Given the description of an element on the screen output the (x, y) to click on. 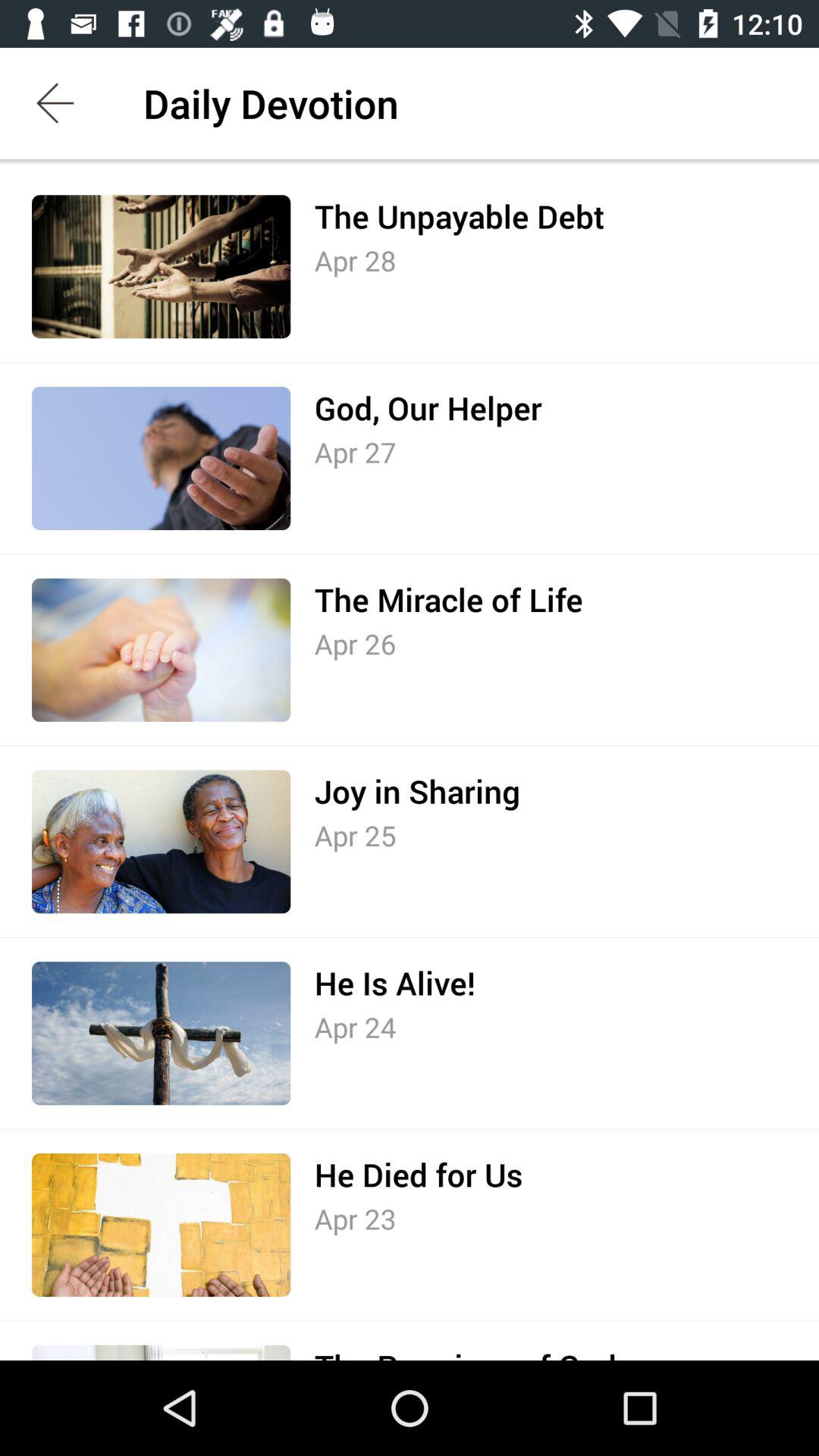
tap the icon below the he is alive! icon (355, 1026)
